Given the description of an element on the screen output the (x, y) to click on. 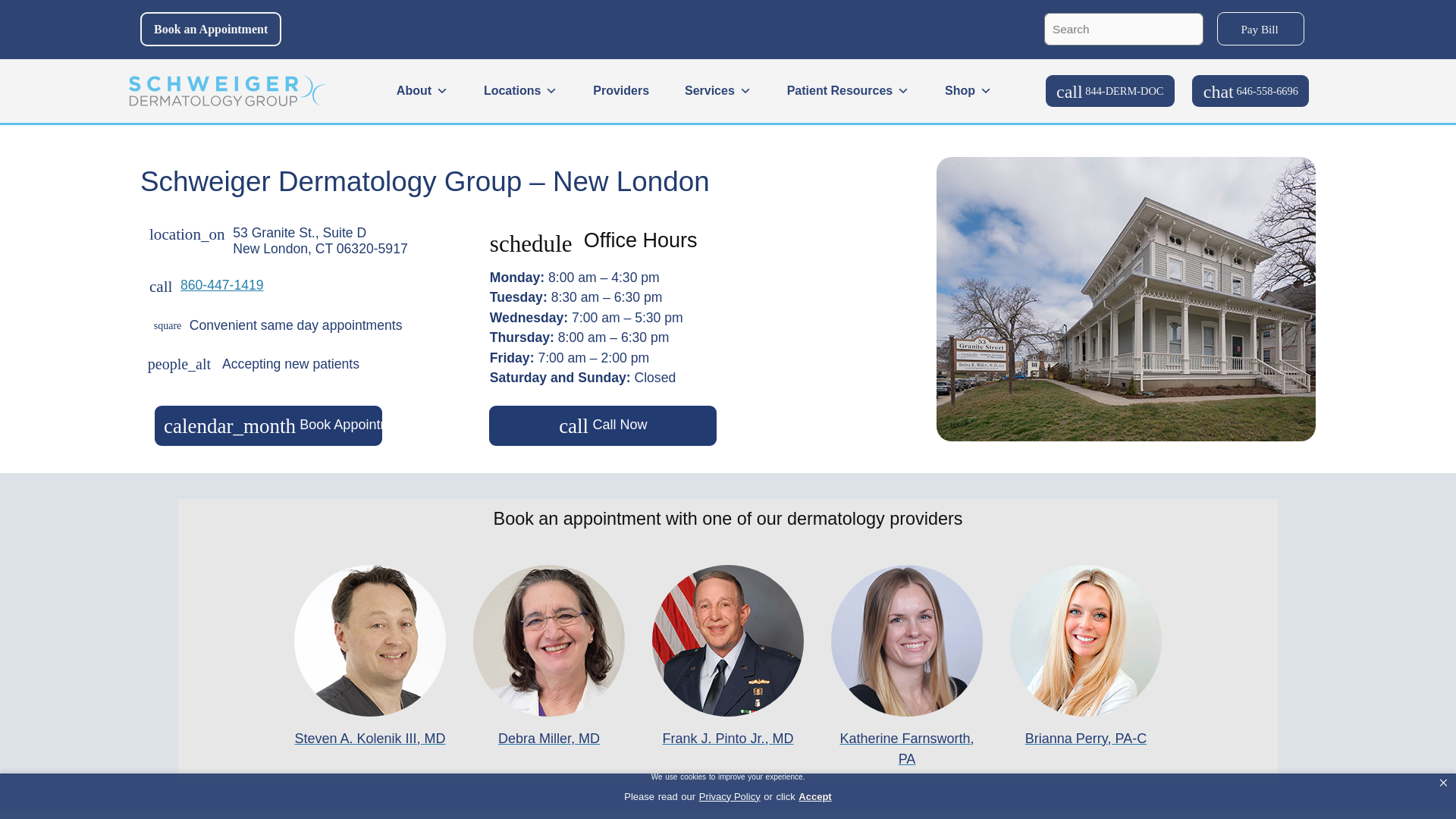
Locations (520, 90)
Privacy Policy (729, 795)
Pay Bill (1260, 28)
Accept (814, 795)
Services (717, 90)
Book an Appointment (210, 28)
Search (1188, 19)
